Given the description of an element on the screen output the (x, y) to click on. 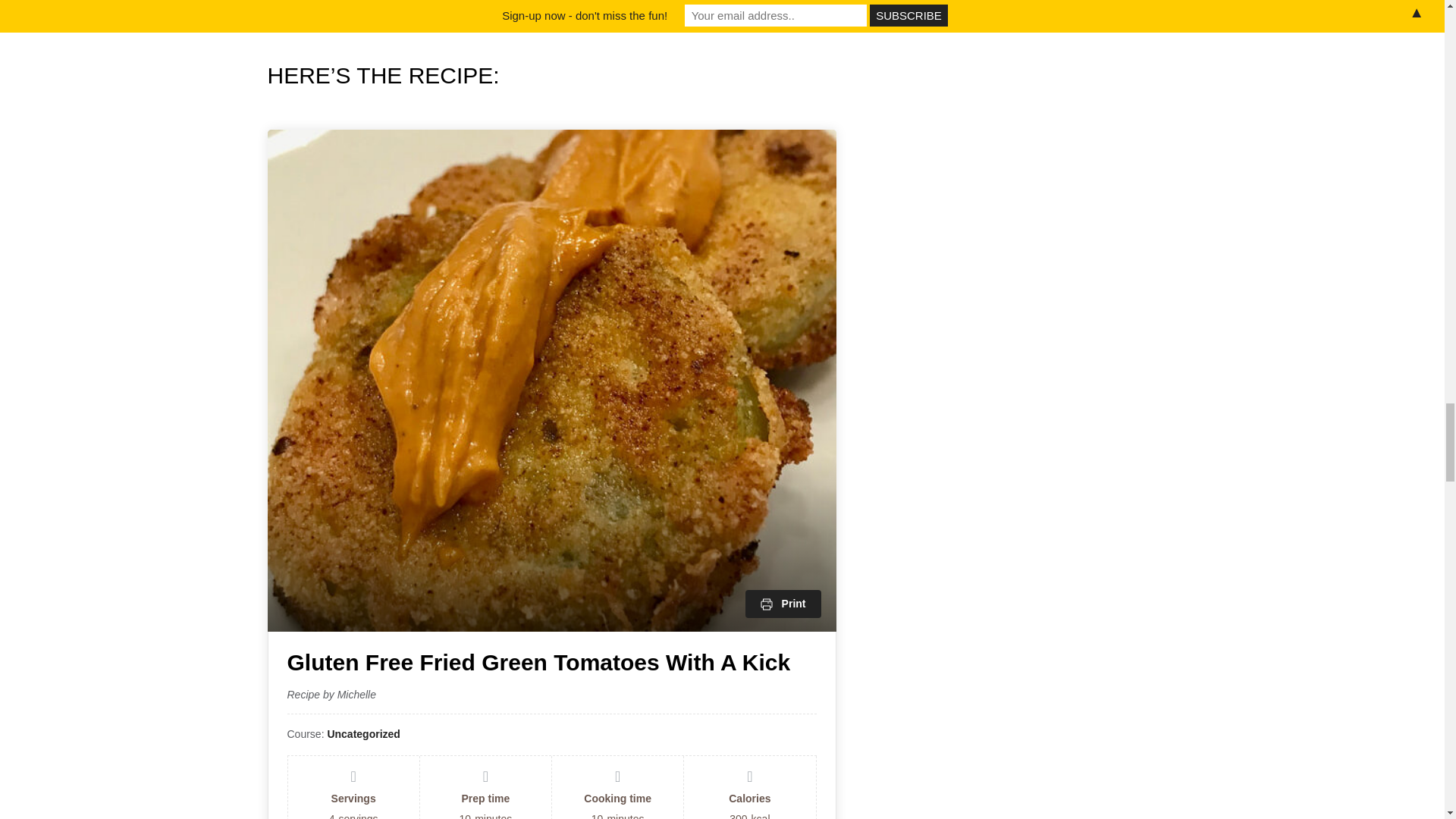
Print directions... (783, 603)
